Given the description of an element on the screen output the (x, y) to click on. 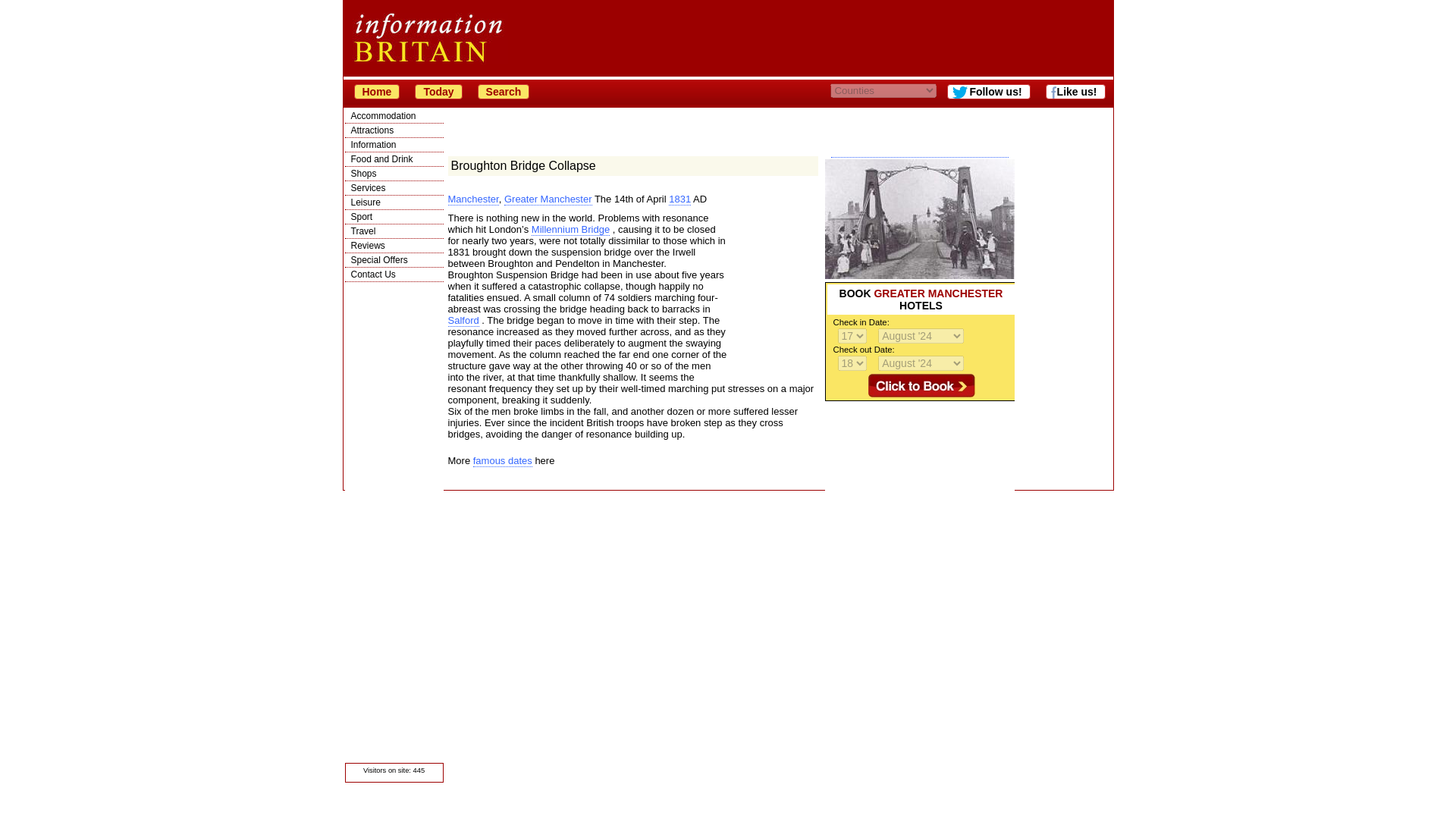
Search (503, 91)
Today (437, 91)
Contact Us (392, 274)
Review Centre (392, 245)
Follow us! (988, 91)
Accommodation (392, 115)
Advertisement (919, 495)
Special Offers (392, 259)
Home (375, 91)
Like us! (1075, 91)
